Given the description of an element on the screen output the (x, y) to click on. 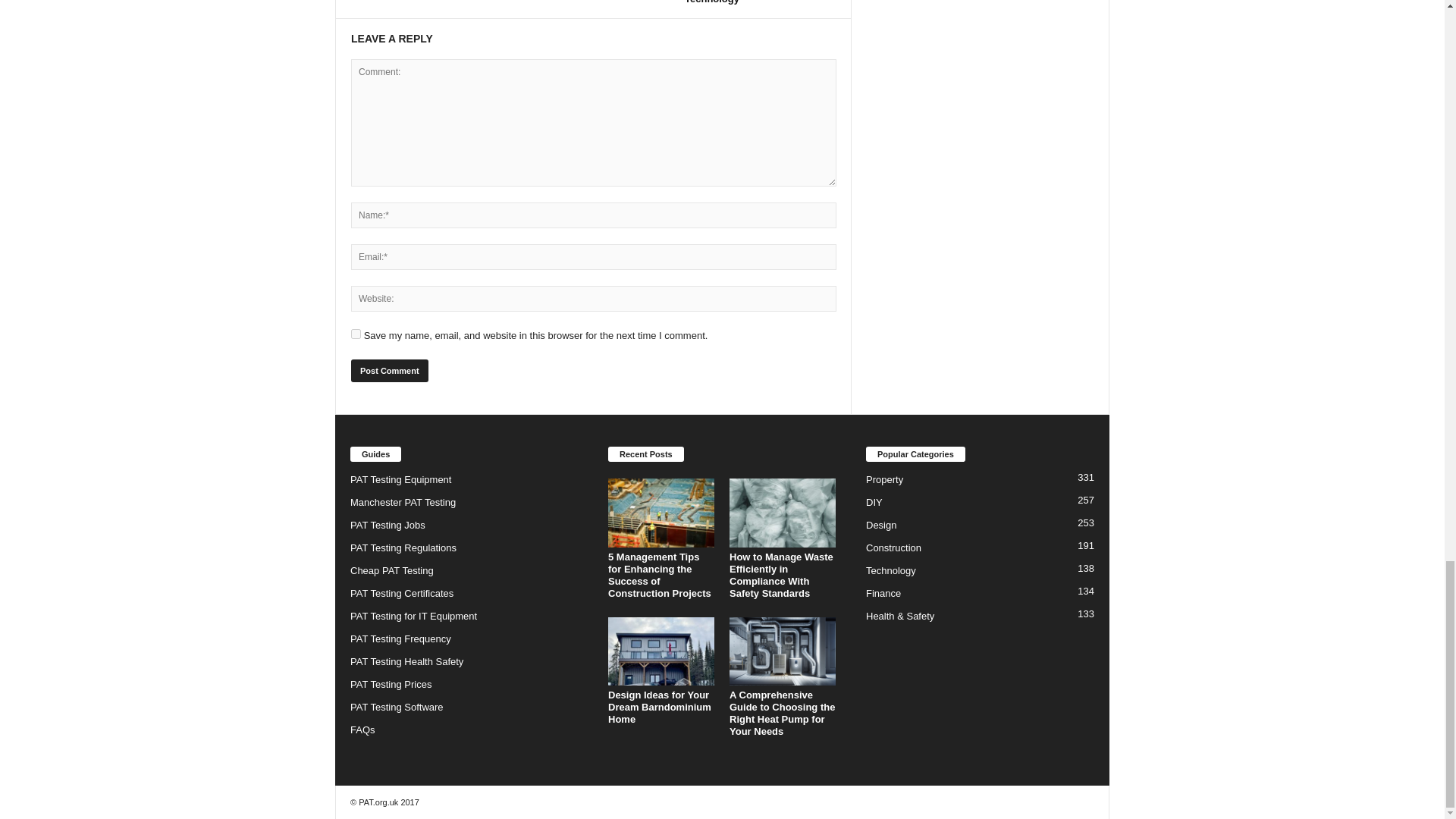
Post Comment (389, 370)
yes (355, 334)
